Given the description of an element on the screen output the (x, y) to click on. 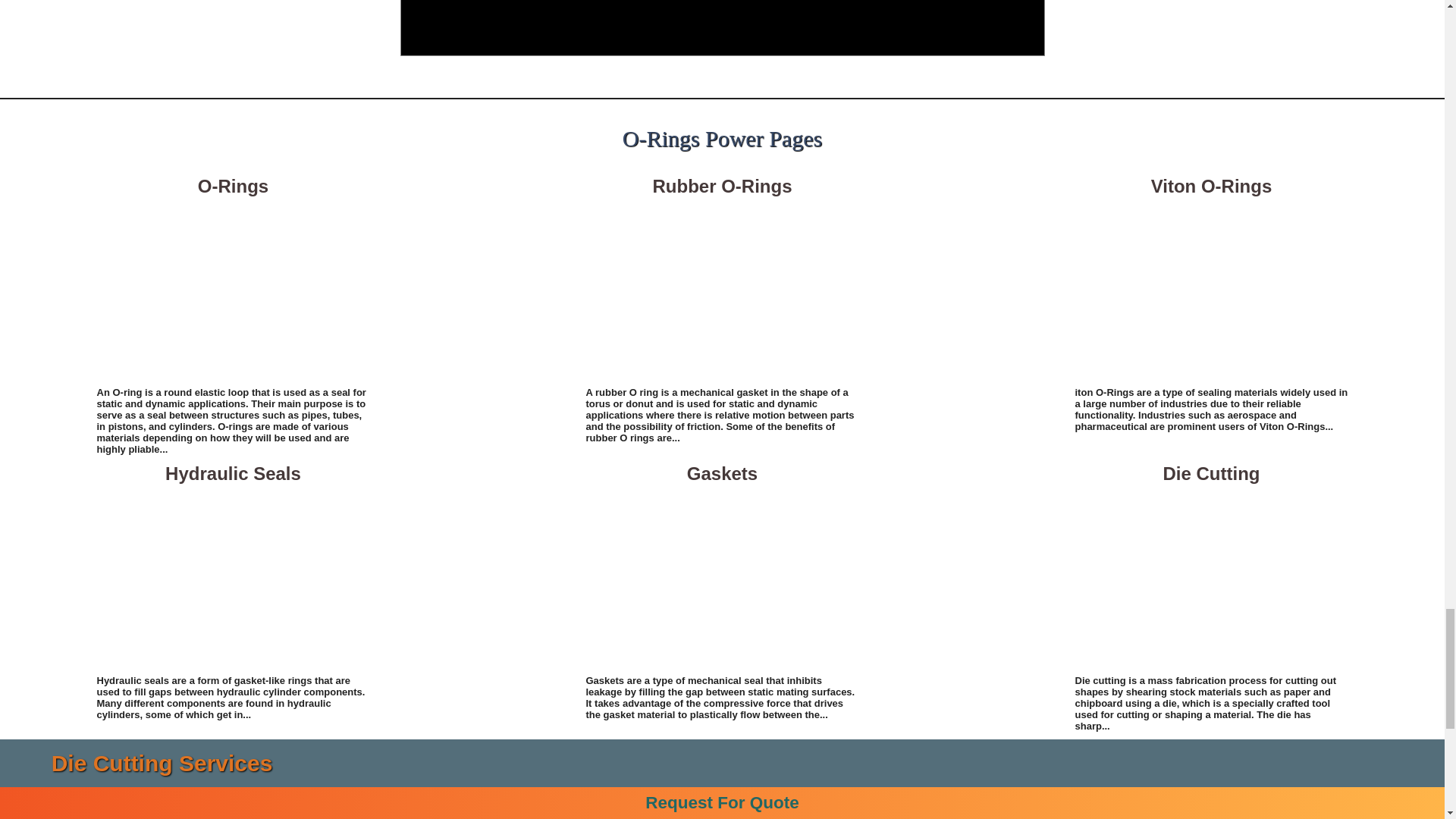
O-Rings (233, 290)
